Given the description of an element on the screen output the (x, y) to click on. 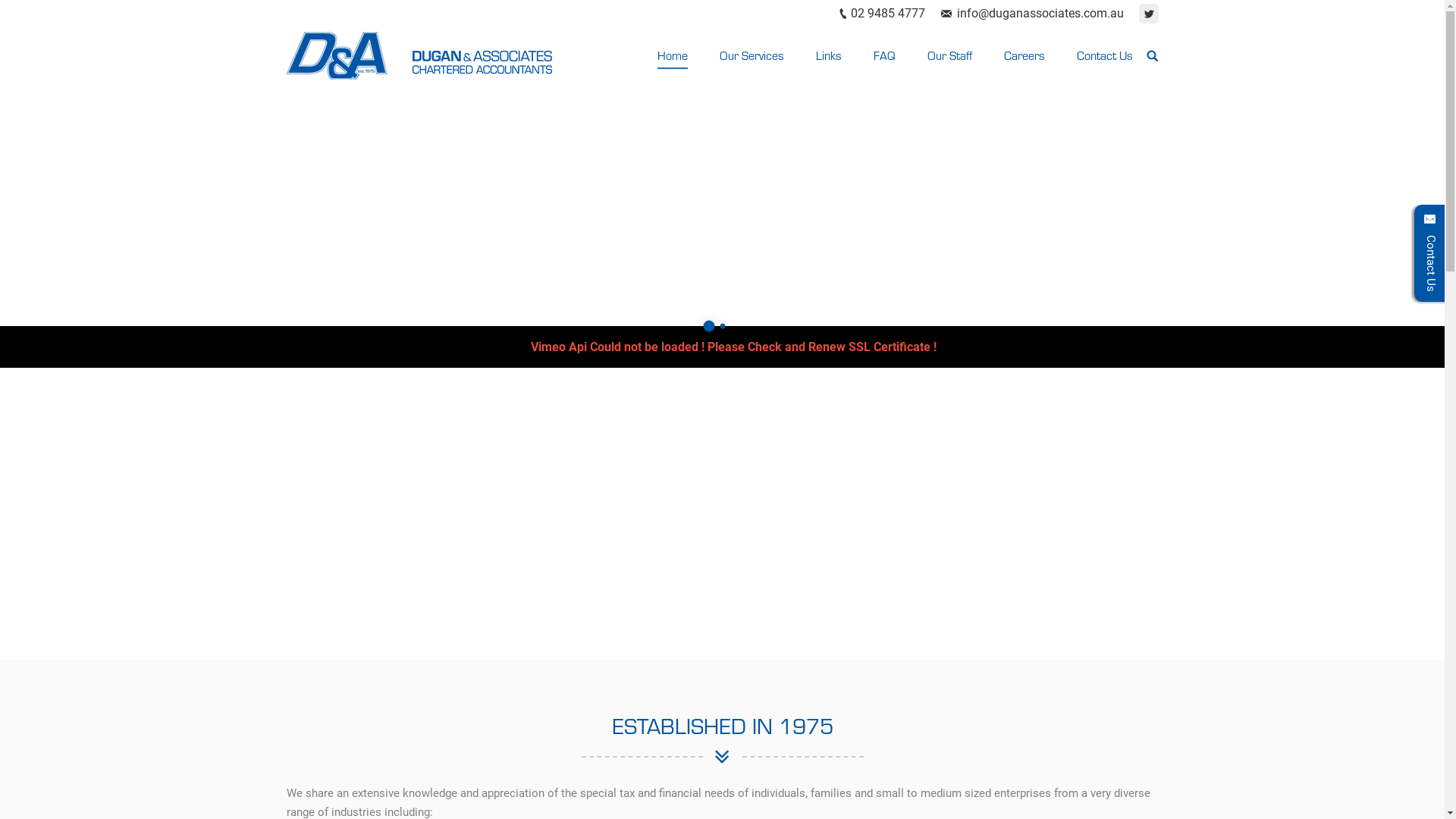
info@duganassociates.com.au Element type: text (1040, 13)
Contact Us Element type: text (1106, 54)
Twitter Element type: text (1148, 13)
Our Staff Element type: text (950, 54)
Careers Element type: text (1026, 54)
  Element type: text (1152, 55)
FAQ Element type: text (885, 54)
Our Services Element type: text (752, 54)
Links Element type: text (829, 54)
Home Element type: text (673, 54)
Go! Element type: text (20, 14)
02 9485 4777 Element type: text (887, 13)
